Given the description of an element on the screen output the (x, y) to click on. 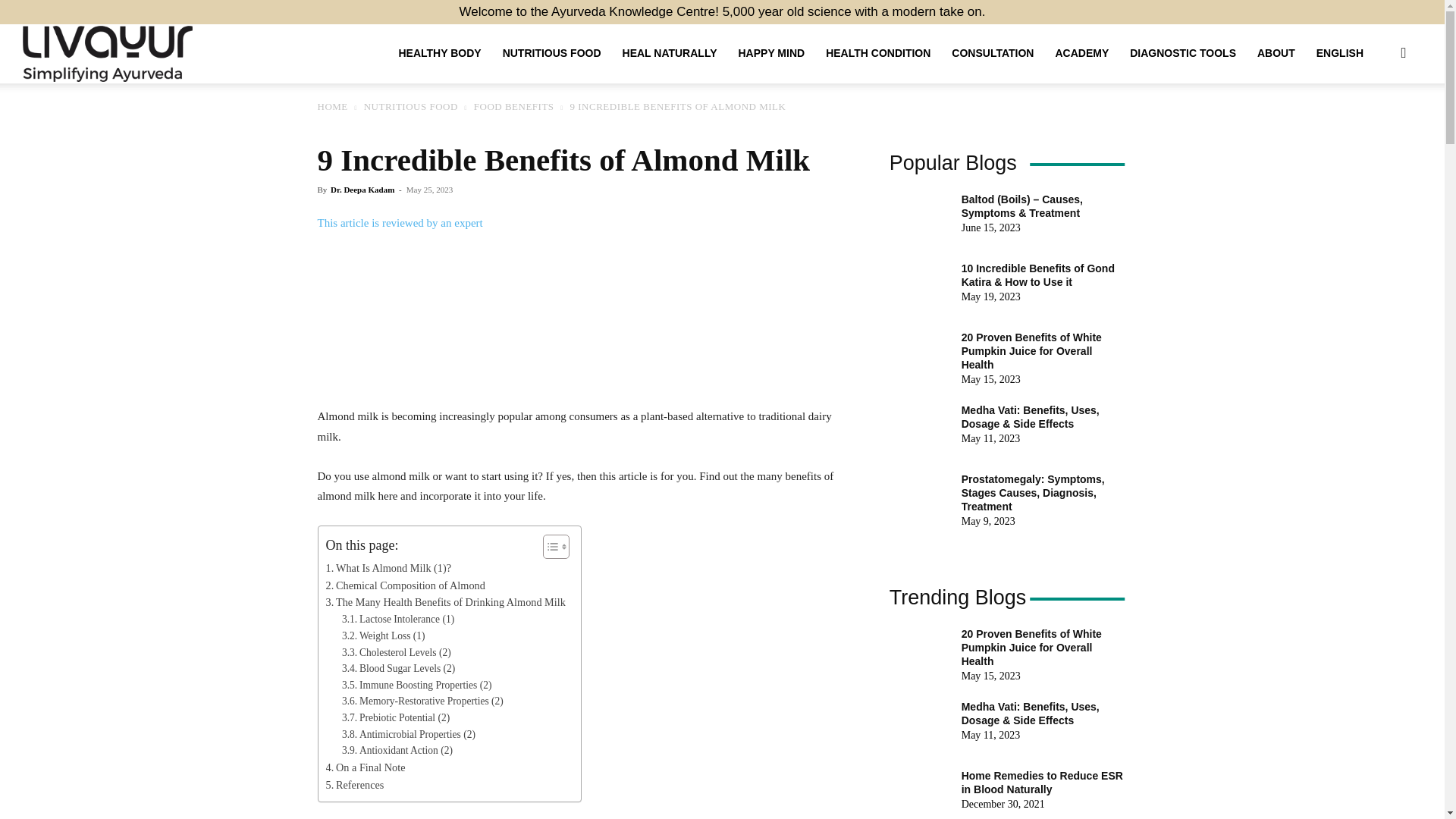
Chemical Composition of Almond (405, 585)
View all posts in Food Benefits (514, 106)
View all posts in NUTRITIOUS FOOD (411, 106)
The Many Health Benefits of Drinking Almond Milk (446, 601)
English (1340, 52)
